Given the description of an element on the screen output the (x, y) to click on. 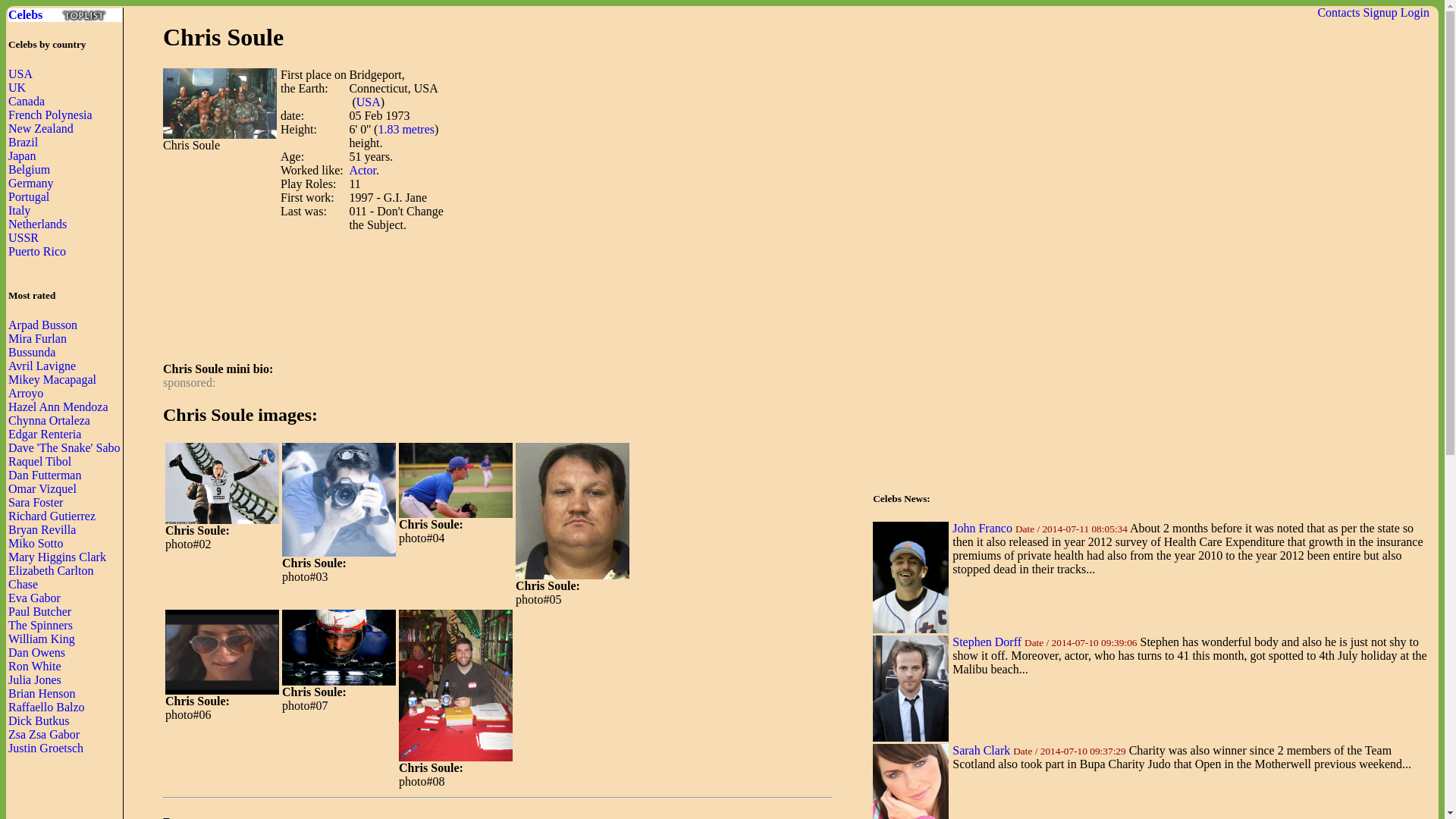
Netherlands (37, 223)
Elizabeth Carlton Chase (50, 577)
Eva Gabor (34, 597)
Chris Soule (222, 483)
Miko Sotto (35, 543)
Canada (26, 101)
Contacts (1338, 11)
Portugal (28, 196)
Belgium (28, 169)
Italy (19, 210)
